Given the description of an element on the screen output the (x, y) to click on. 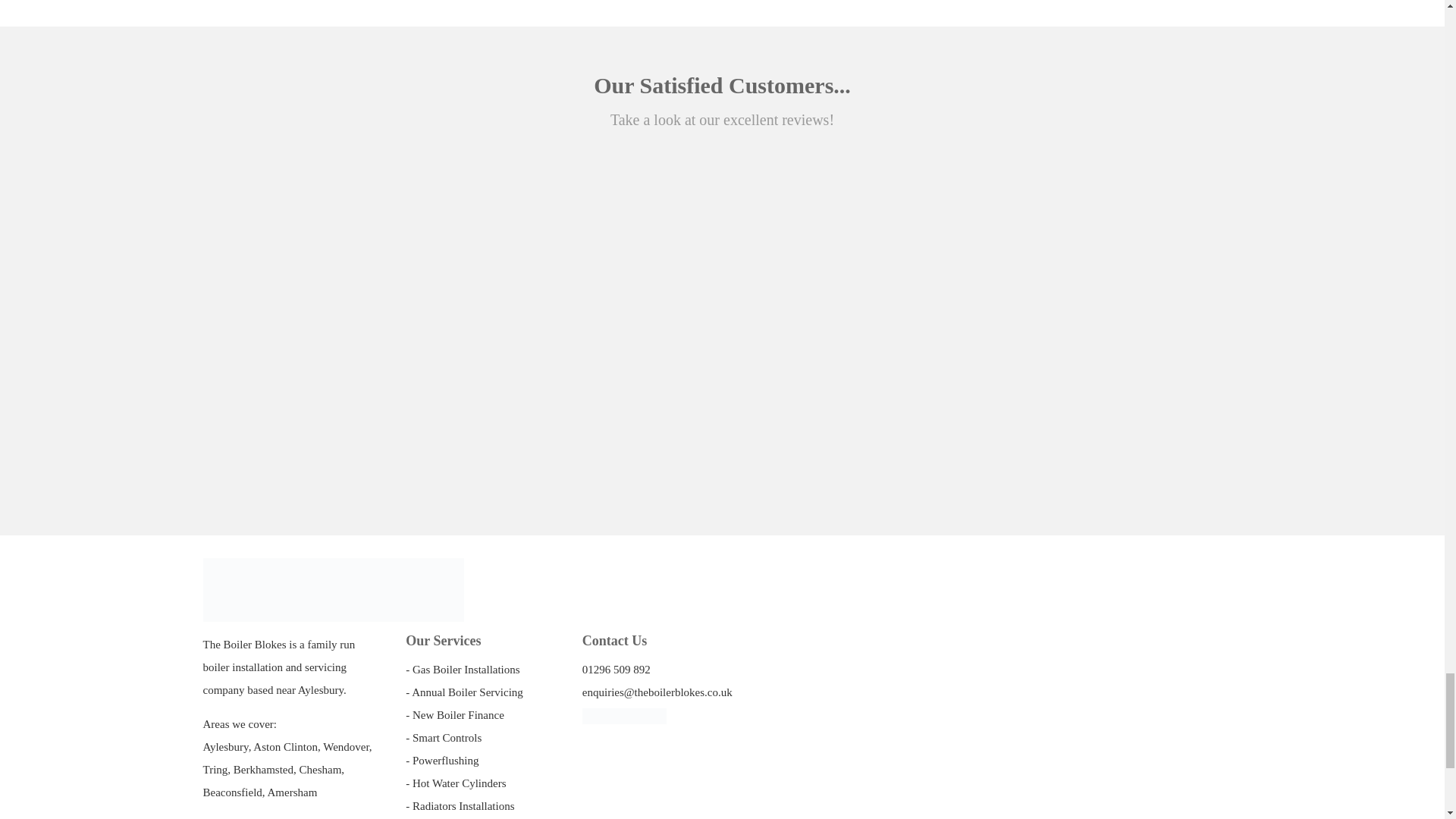
Beaconsfield (232, 792)
Aston Clinton (285, 746)
Tring (215, 769)
Chesham (319, 769)
Berkhamsted (263, 769)
Wendover (346, 746)
Amersham (291, 792)
Aylesbury (225, 746)
